Given the description of an element on the screen output the (x, y) to click on. 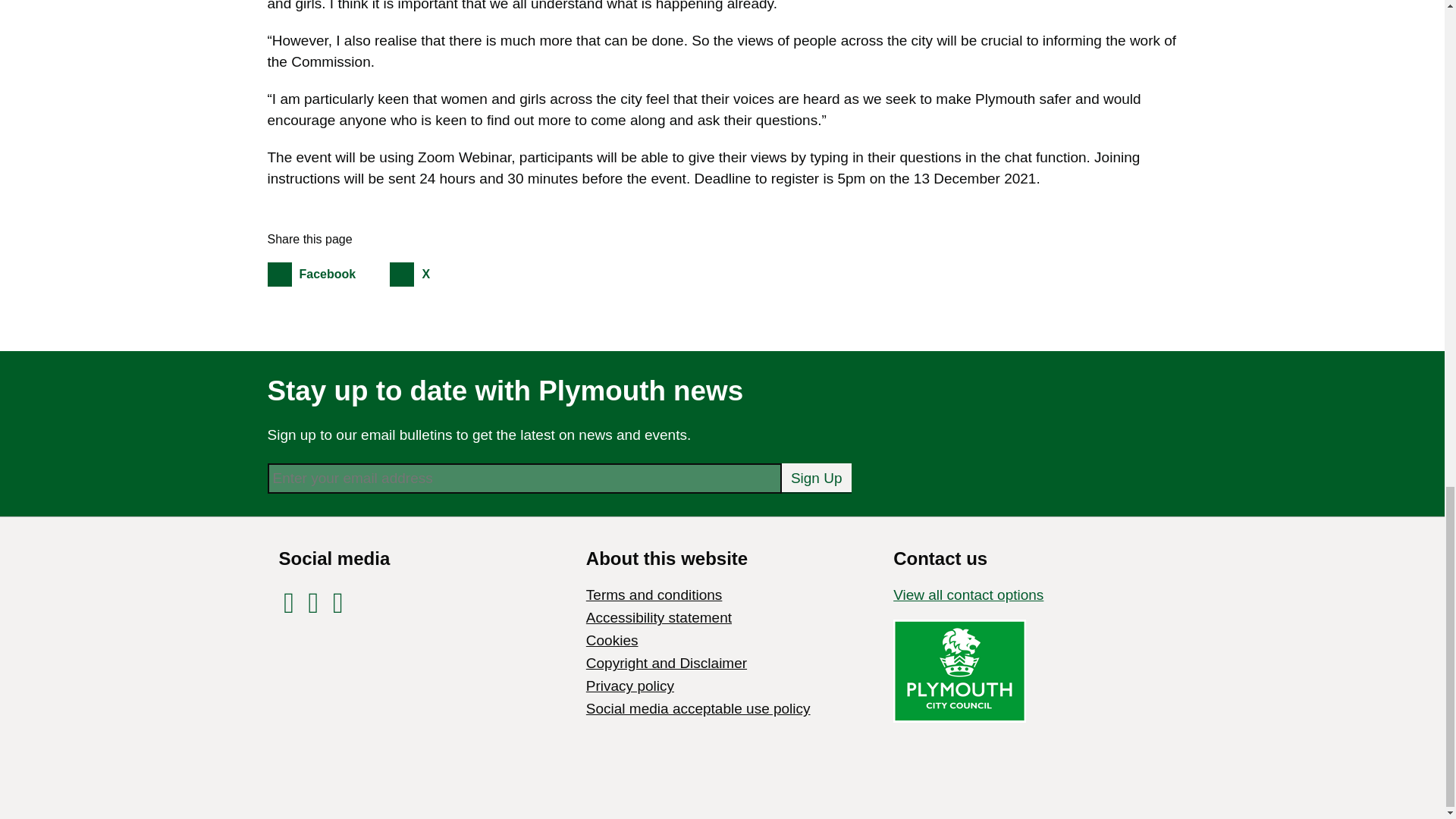
Sign Up (816, 477)
Privacy policy (630, 685)
Sign Up (816, 477)
Social media acceptable use policy (698, 708)
Copyright and Disclaimer (666, 662)
Cookies (612, 640)
Share to Facebook (326, 273)
Accessibility statement (659, 617)
View all contact options (968, 594)
Terms and conditions (326, 273)
